Given the description of an element on the screen output the (x, y) to click on. 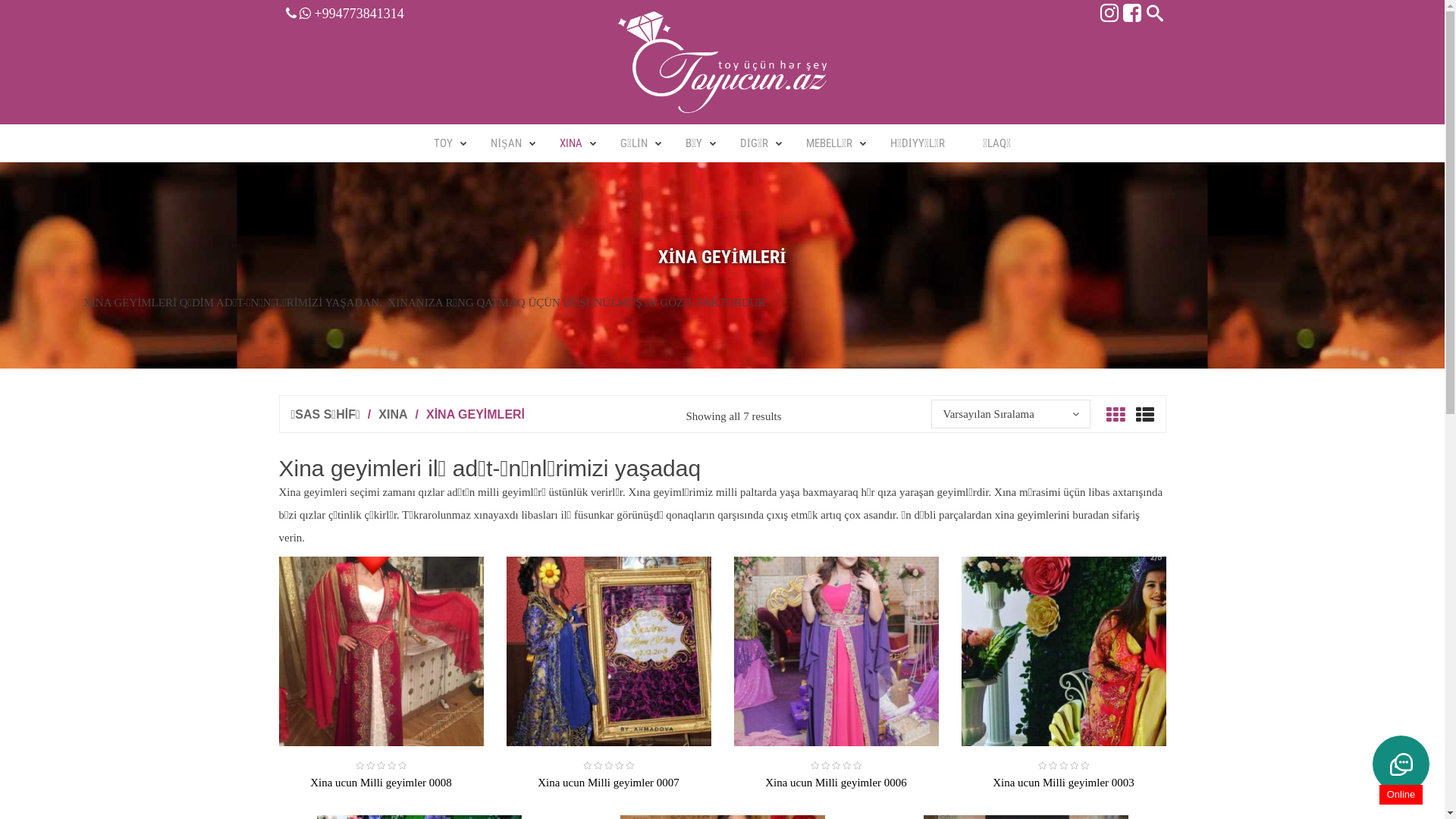
Xina ucun Milli geyimler 0006 Element type: text (835, 782)
XINA Element type: text (570, 143)
Skip to content Element type: text (0, 0)
Xina ucun Milli geyimler 0003 Element type: text (1063, 782)
Xina ucun Milli geyimler 0008 Element type: text (380, 782)
XINA Element type: text (392, 413)
Xina ucun Milli geyimler 0007 Element type: text (608, 782)
TOY Element type: text (442, 143)
